Given the description of an element on the screen output the (x, y) to click on. 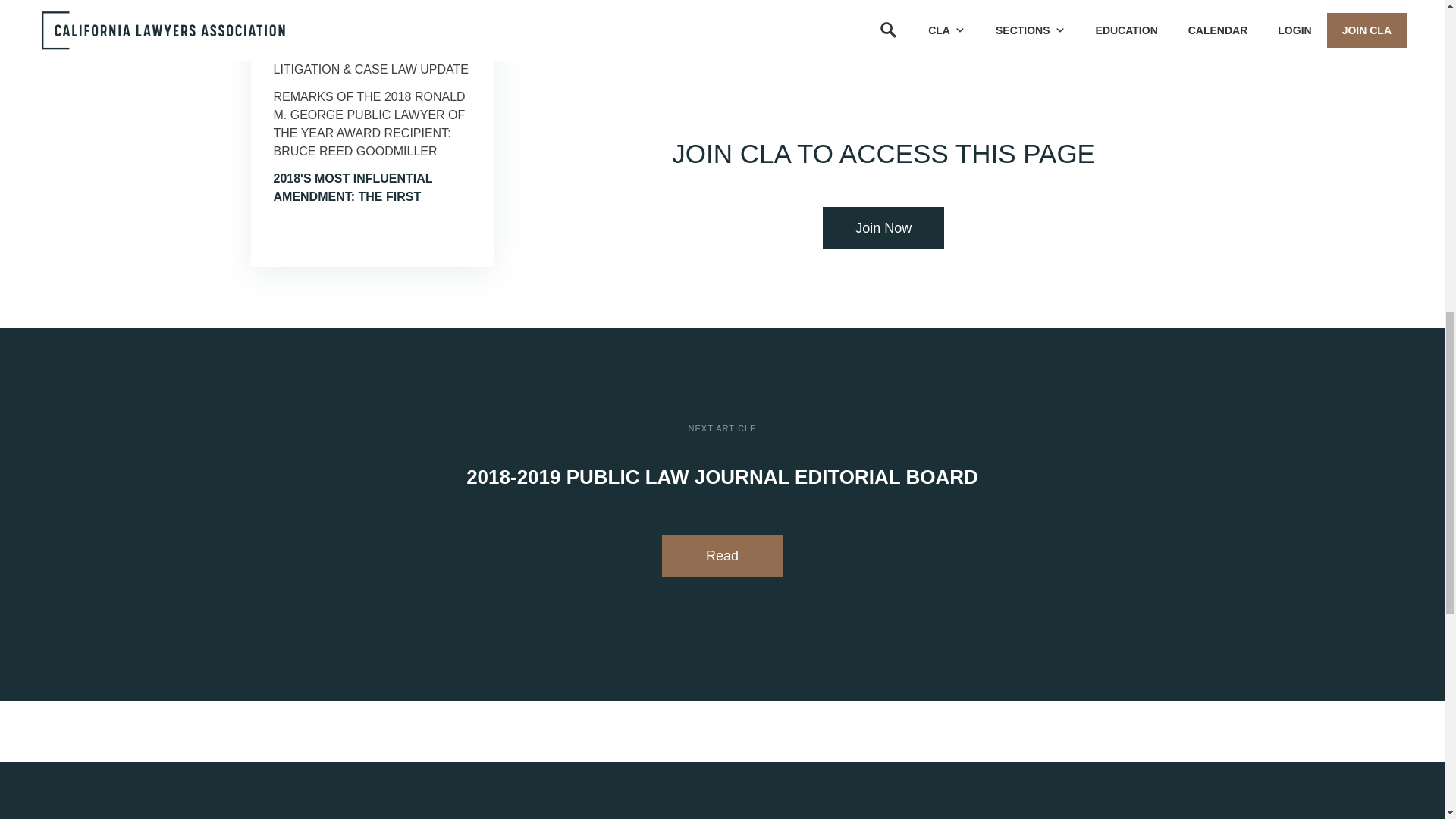
2018's Most Influential Amendment: the First (352, 187)
Join Now (882, 228)
Read: 2018-2019 Public Law Journal Editorial Board (722, 555)
